Given the description of an element on the screen output the (x, y) to click on. 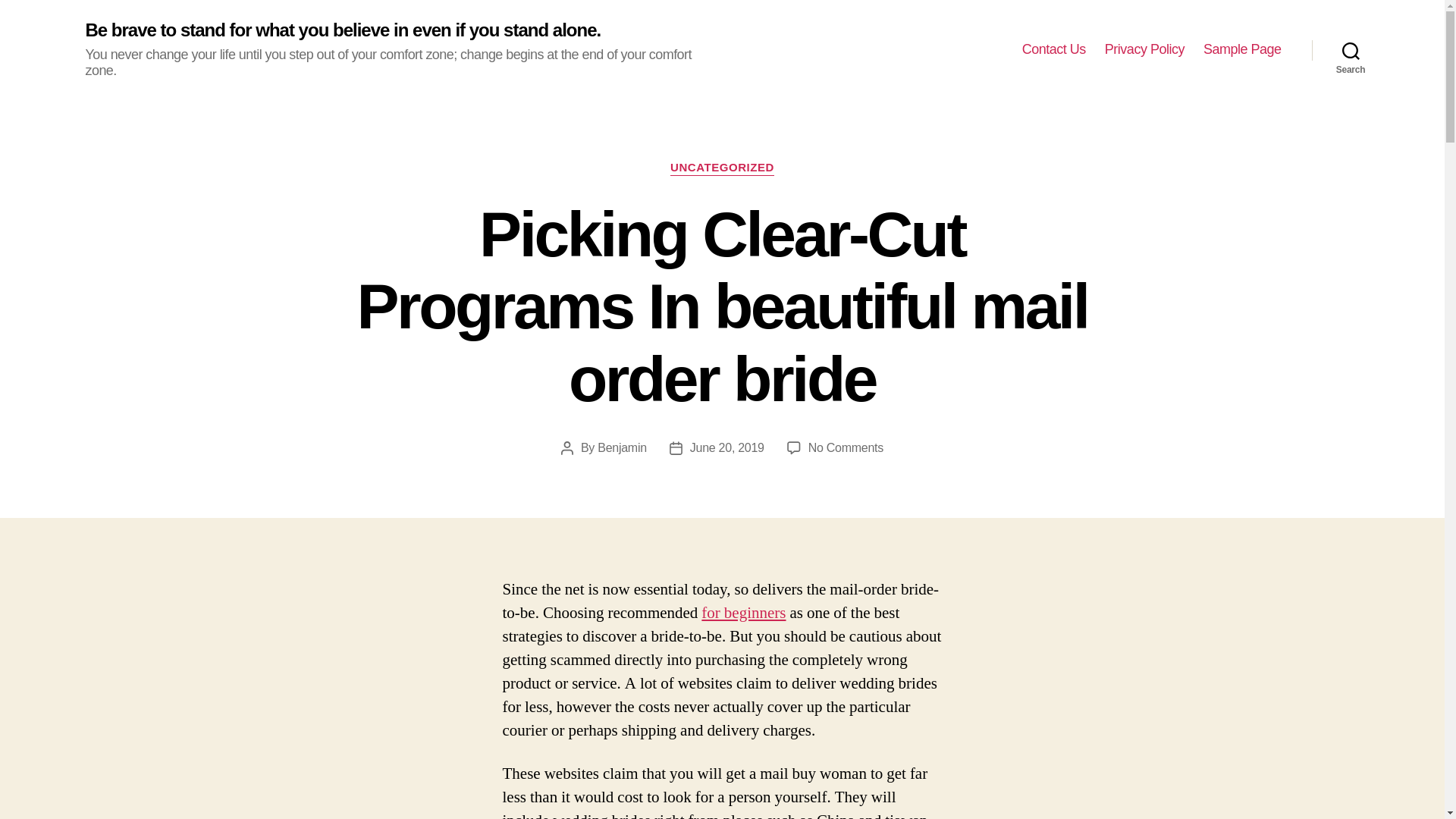
Search (1350, 49)
Privacy Policy (1145, 49)
for beginners (743, 612)
Benjamin (621, 447)
June 20, 2019 (727, 447)
UNCATEGORIZED (721, 168)
Sample Page (1242, 49)
Contact Us (1054, 49)
